Given the description of an element on the screen output the (x, y) to click on. 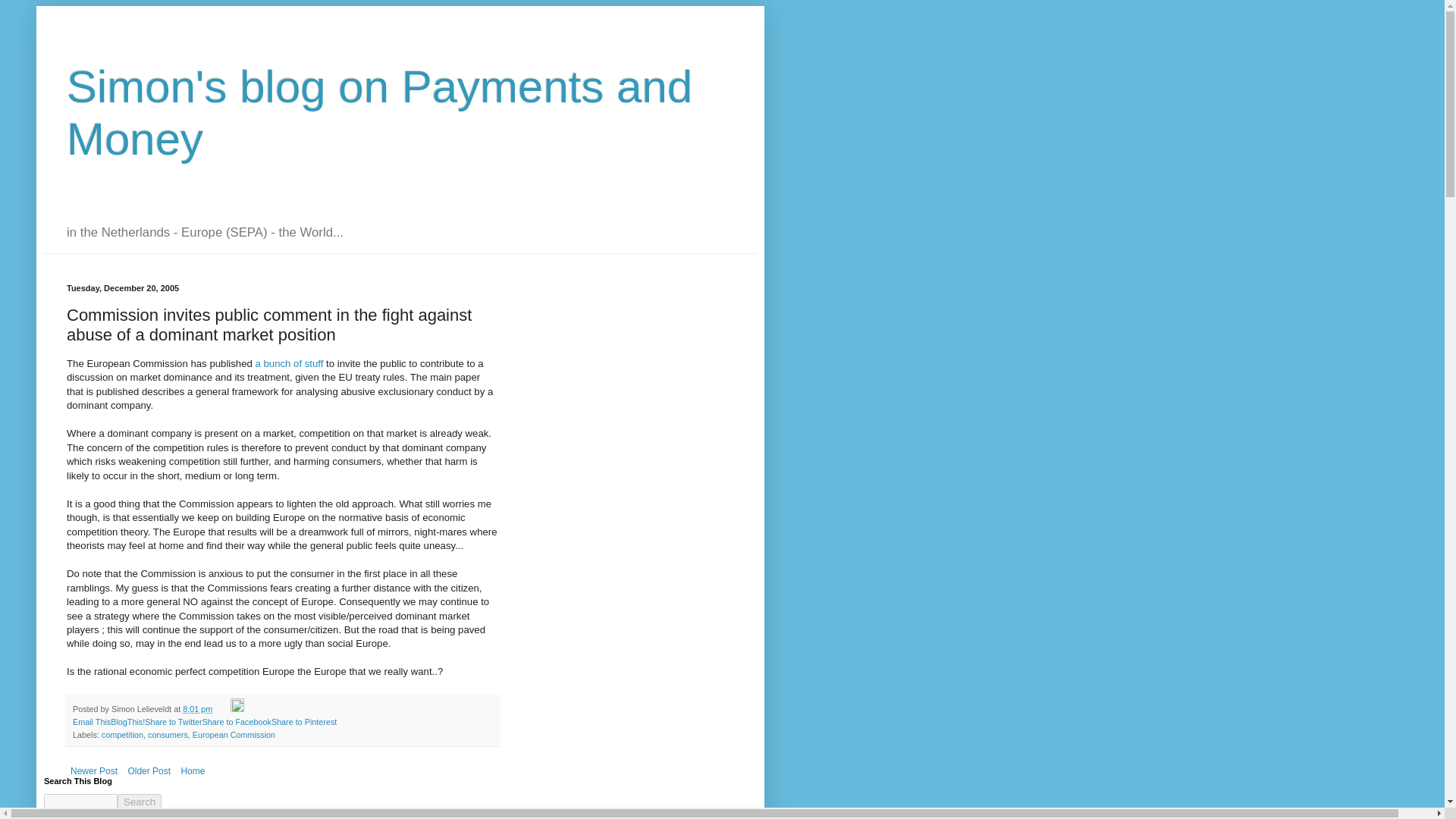
Share to Pinterest (303, 721)
search (80, 801)
permanent link (197, 708)
competition (121, 734)
8:01 pm (197, 708)
Newer Post (93, 771)
Share to Pinterest (303, 721)
BlogThis! (127, 721)
Share to Twitter (173, 721)
Search (139, 801)
Share to Facebook (236, 721)
Search (139, 801)
Email This (91, 721)
Share to Twitter (173, 721)
Newer Post (93, 771)
